Given the description of an element on the screen output the (x, y) to click on. 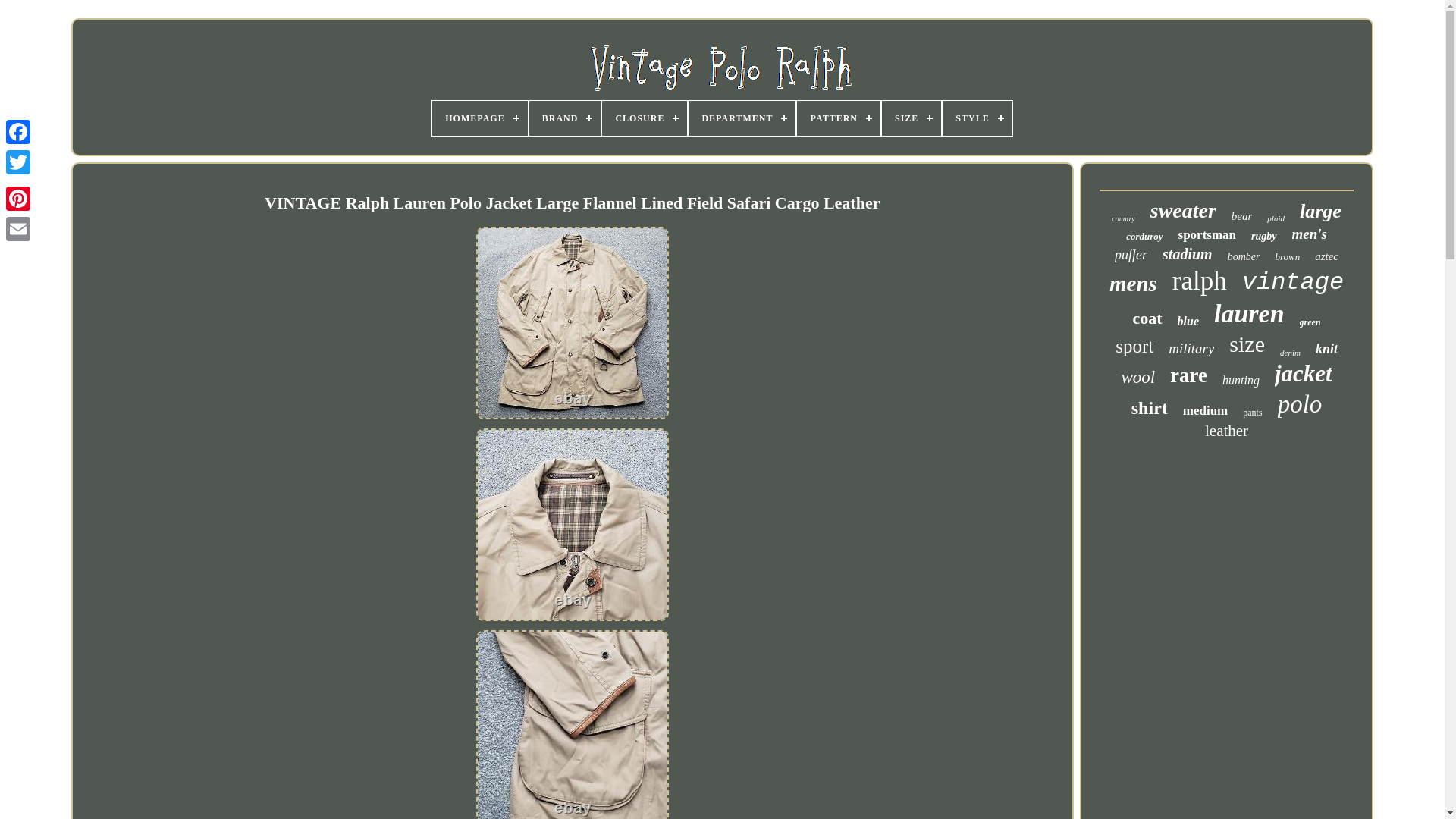
HOMEPAGE (479, 117)
BRAND (565, 117)
CLOSURE (644, 117)
